Given the description of an element on the screen output the (x, y) to click on. 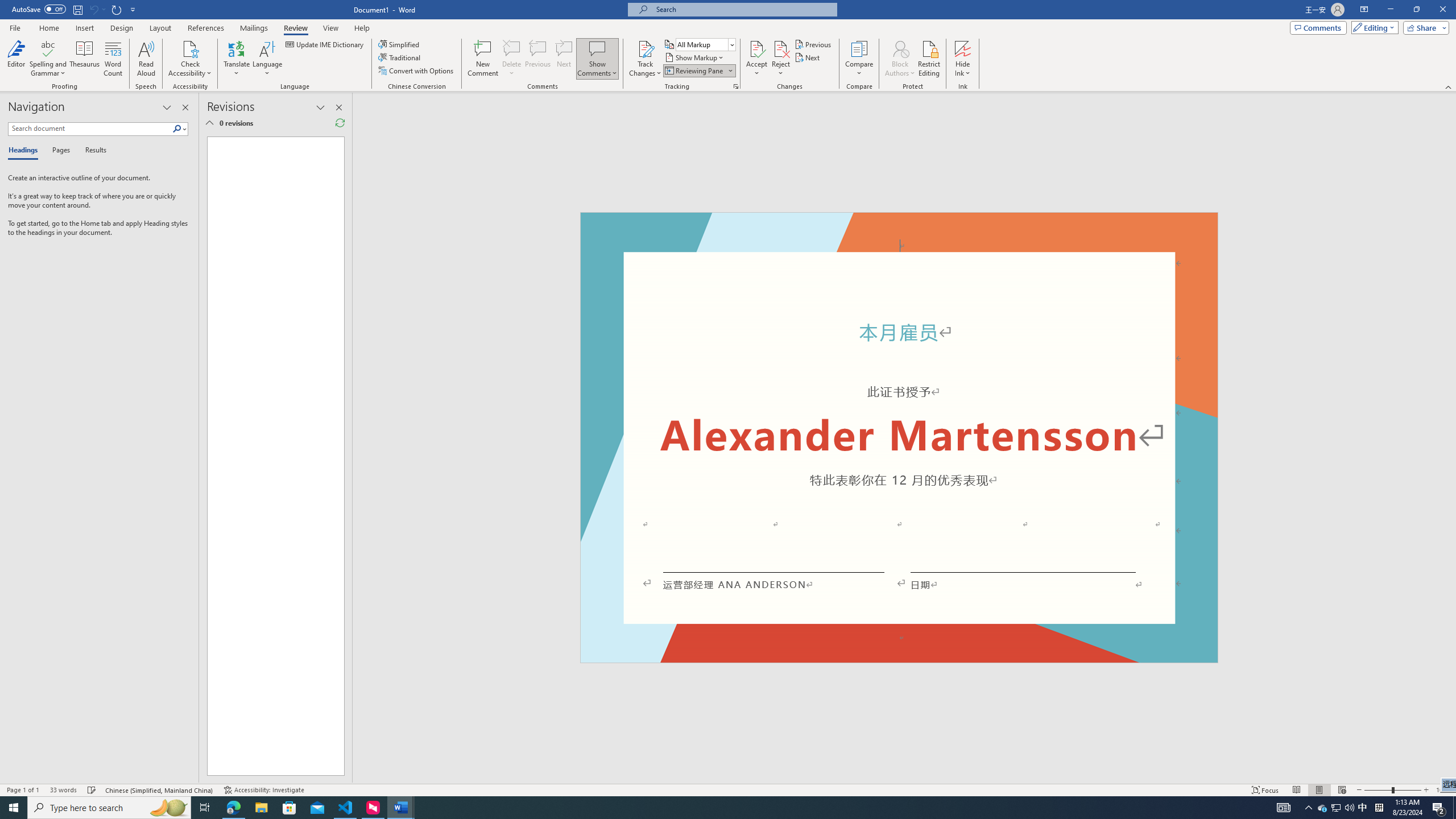
Spelling and Grammar (48, 58)
Compare (859, 58)
Thesaurus... (84, 58)
Block Authors (900, 58)
Decorative (898, 437)
Repeat Doc Close (117, 9)
